Given the description of an element on the screen output the (x, y) to click on. 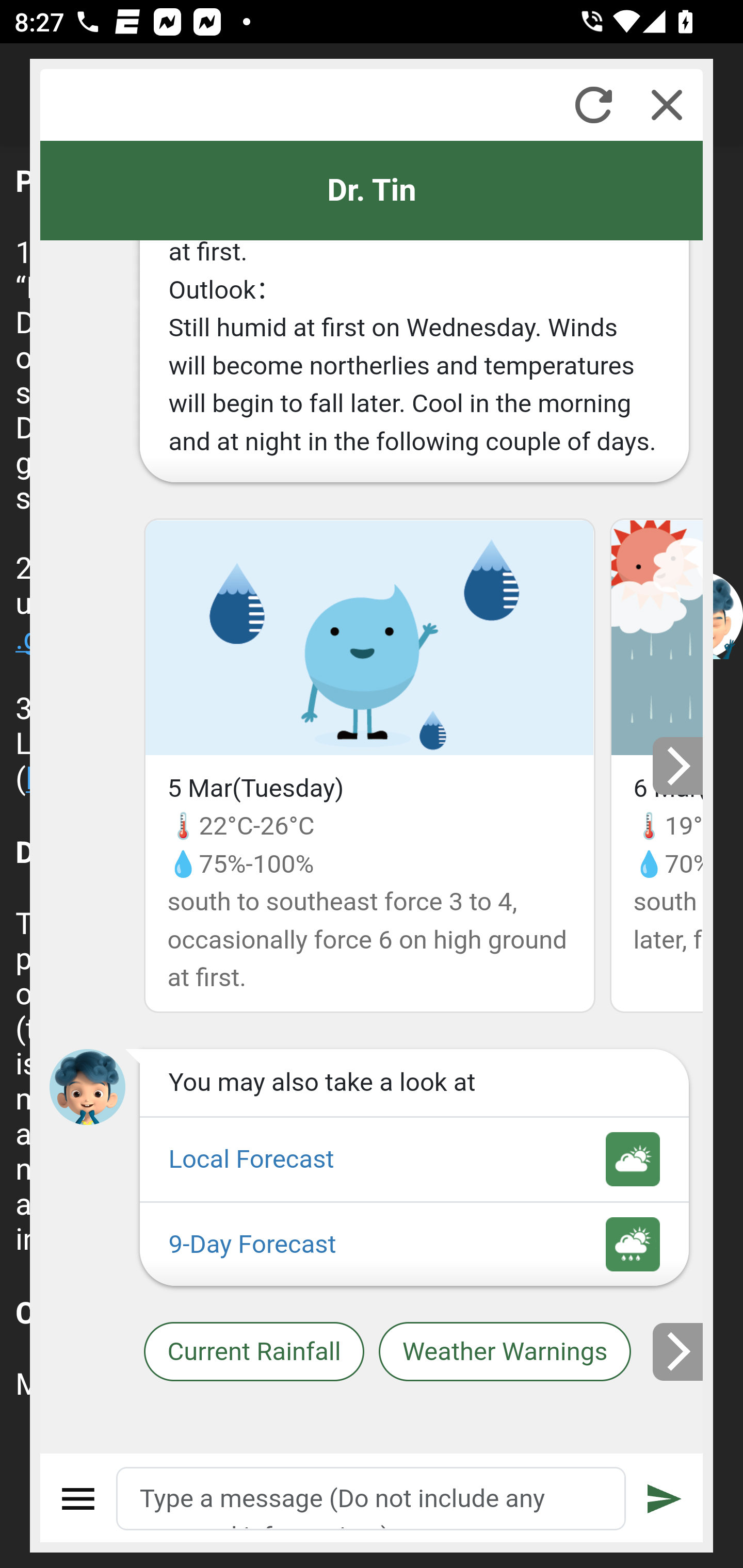
Refresh (593, 104)
Close (666, 104)
Next slide (678, 766)
Local Forecast (413, 1160)
9-Day Forecast (413, 1244)
Current Rainfall (253, 1351)
Weather Warnings (504, 1351)
Next slide (678, 1351)
Menu (78, 1498)
Submit (665, 1498)
